Given the description of an element on the screen output the (x, y) to click on. 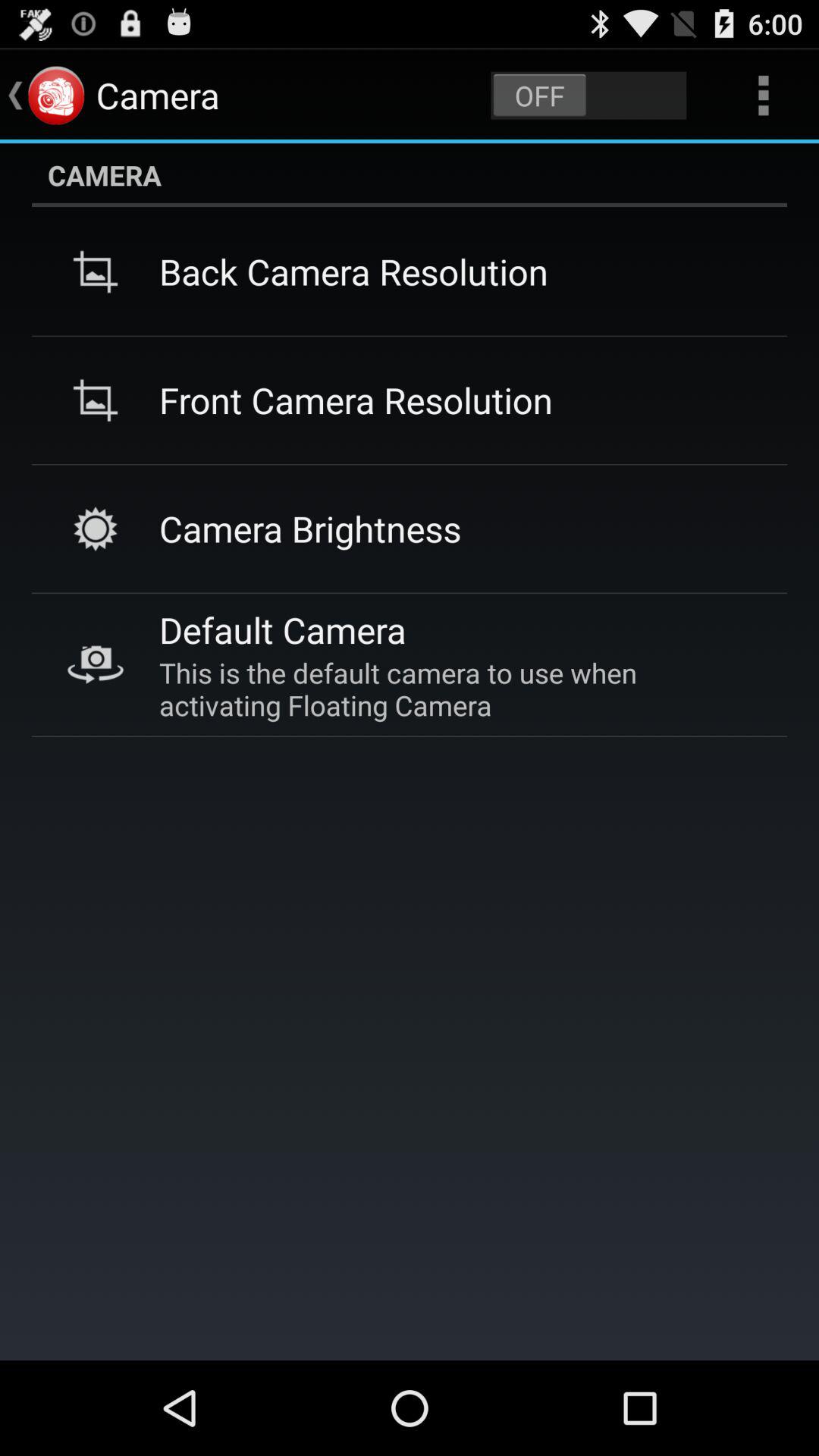
turn off camera brightness app (310, 528)
